Given the description of an element on the screen output the (x, y) to click on. 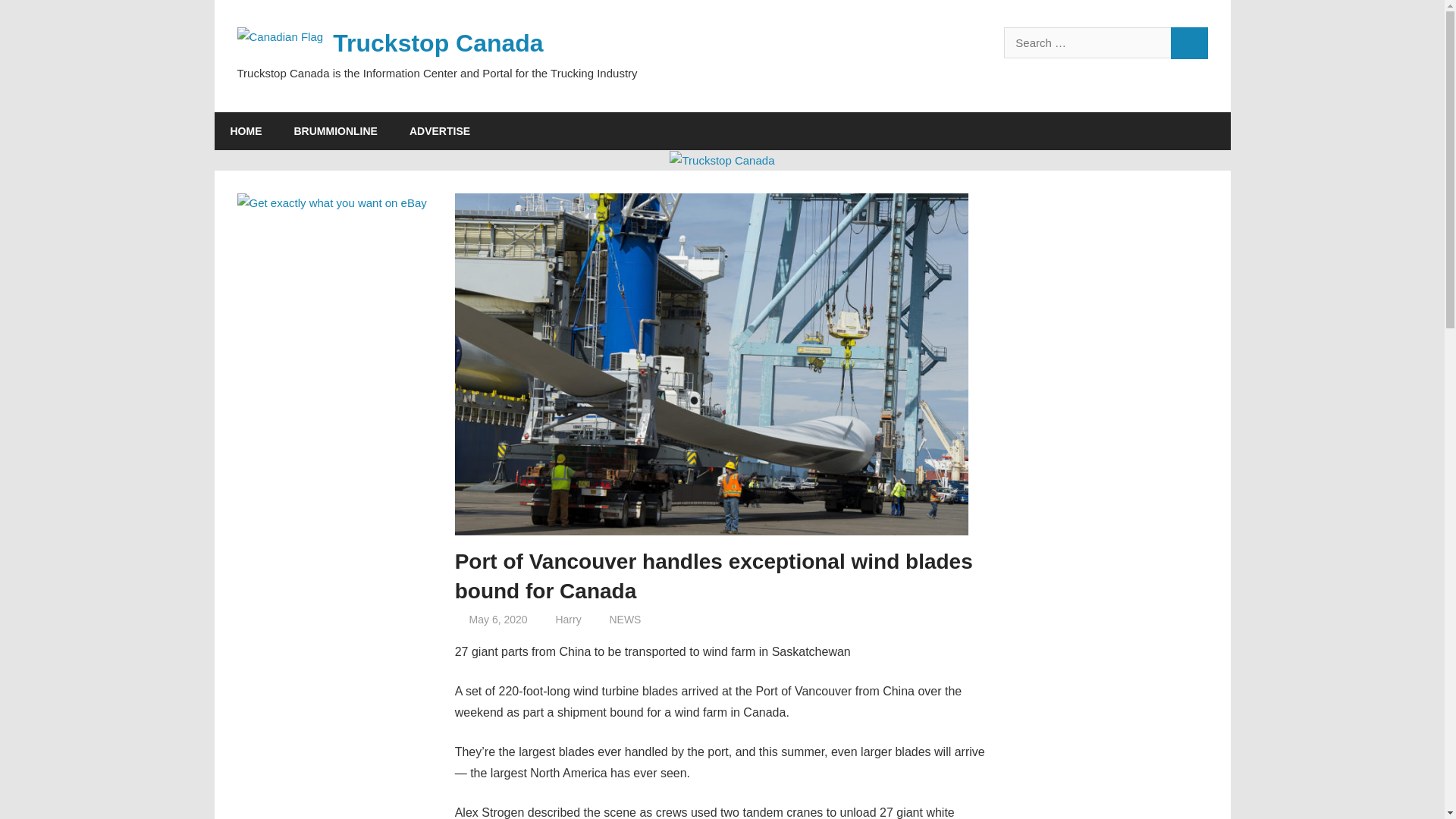
SEARCH (1189, 42)
Harry (567, 619)
NEWS (624, 619)
View all posts by Harry (567, 619)
ADVERTISE (439, 130)
BRUMMIONLINE (335, 130)
3:23 pm (497, 619)
Search for: (1088, 42)
May 6, 2020 (497, 619)
